Given the description of an element on the screen output the (x, y) to click on. 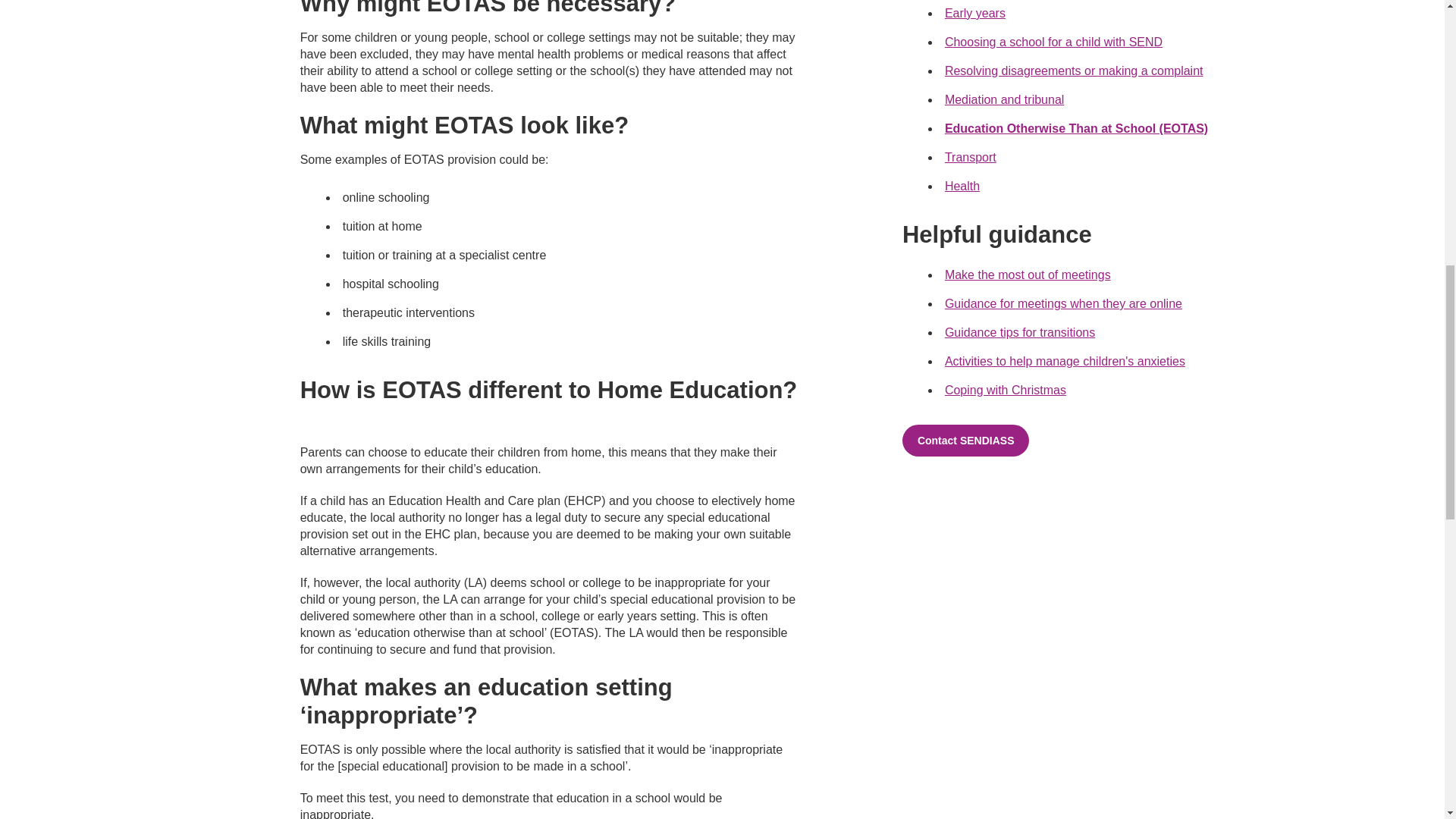
SENDIASS guidance for tips for transitions (1019, 332)
SENDIASS guidance for making the most of meetings (1027, 274)
SENDIASS guidance for transport (969, 156)
Contact SENDIASS (965, 440)
SENDIASS guidance for health (961, 185)
SENDIASS guidance for mediation and tribunal (1004, 99)
Coping with Christmas (1004, 390)
SENDIASS guidance for early years (975, 12)
